Given the description of an element on the screen output the (x, y) to click on. 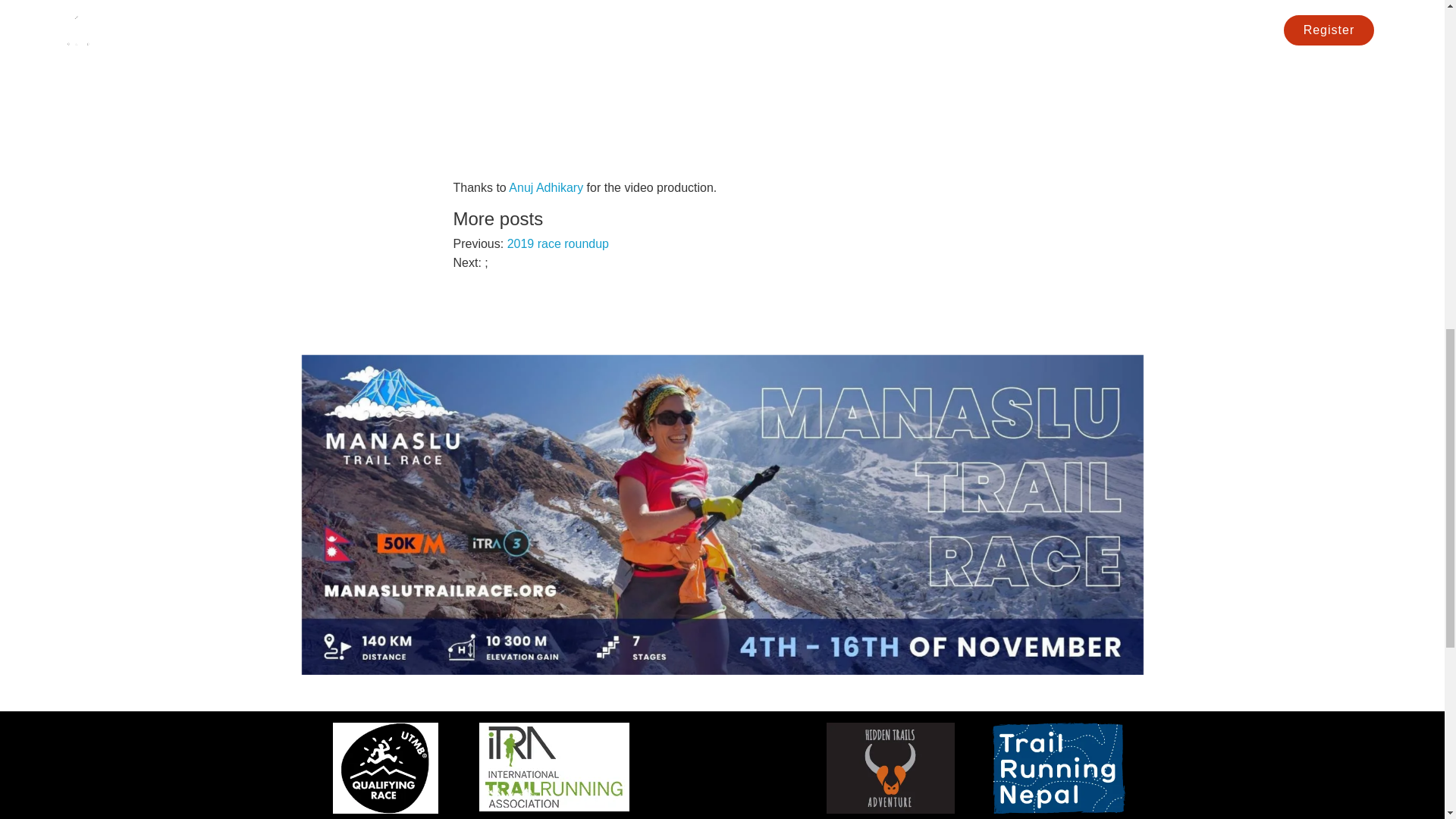
Anuj Adhikary (545, 187)
2019 race roundup (557, 243)
